Given the description of an element on the screen output the (x, y) to click on. 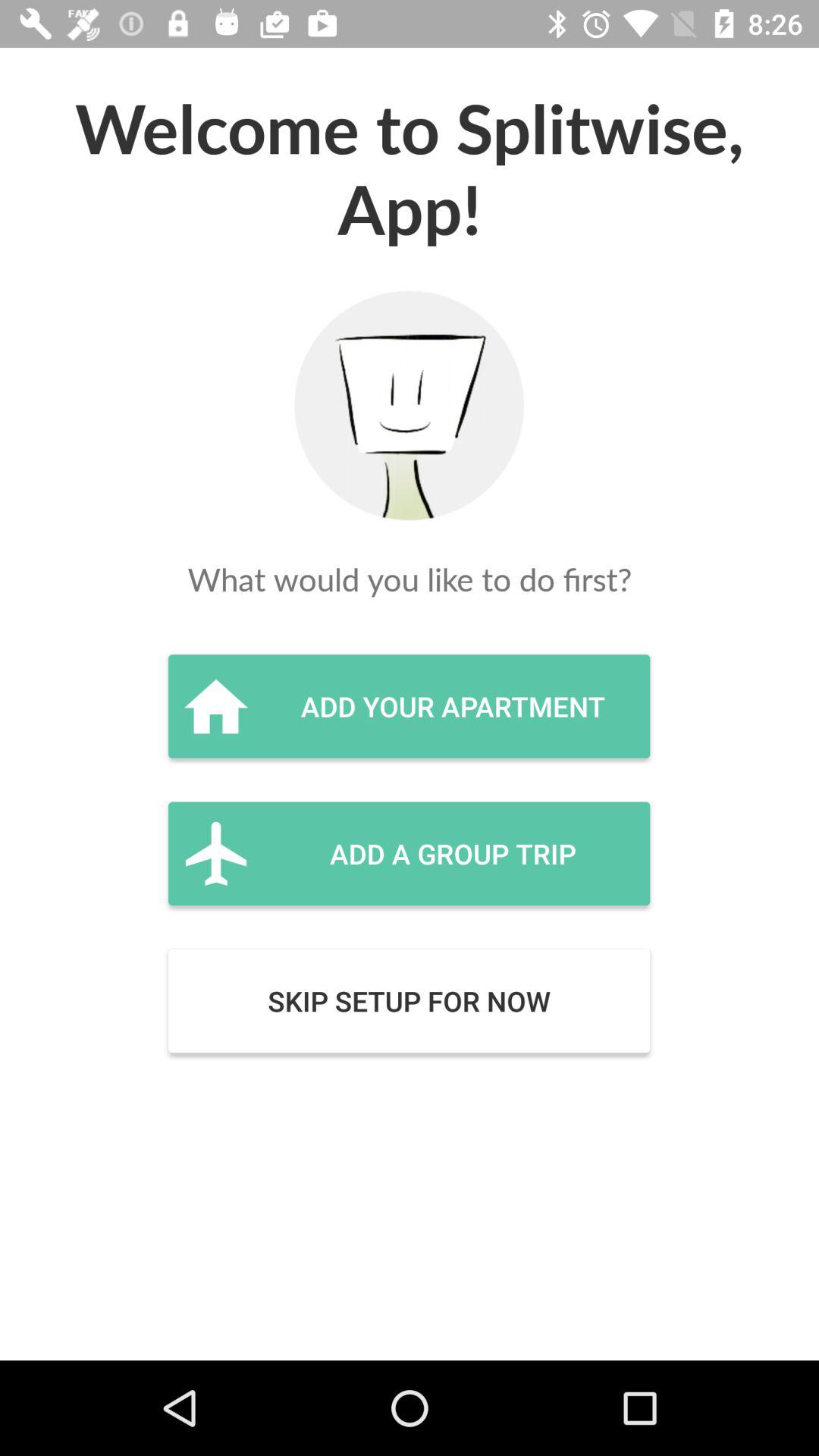
turn on icon above the skip setup for icon (409, 853)
